Given the description of an element on the screen output the (x, y) to click on. 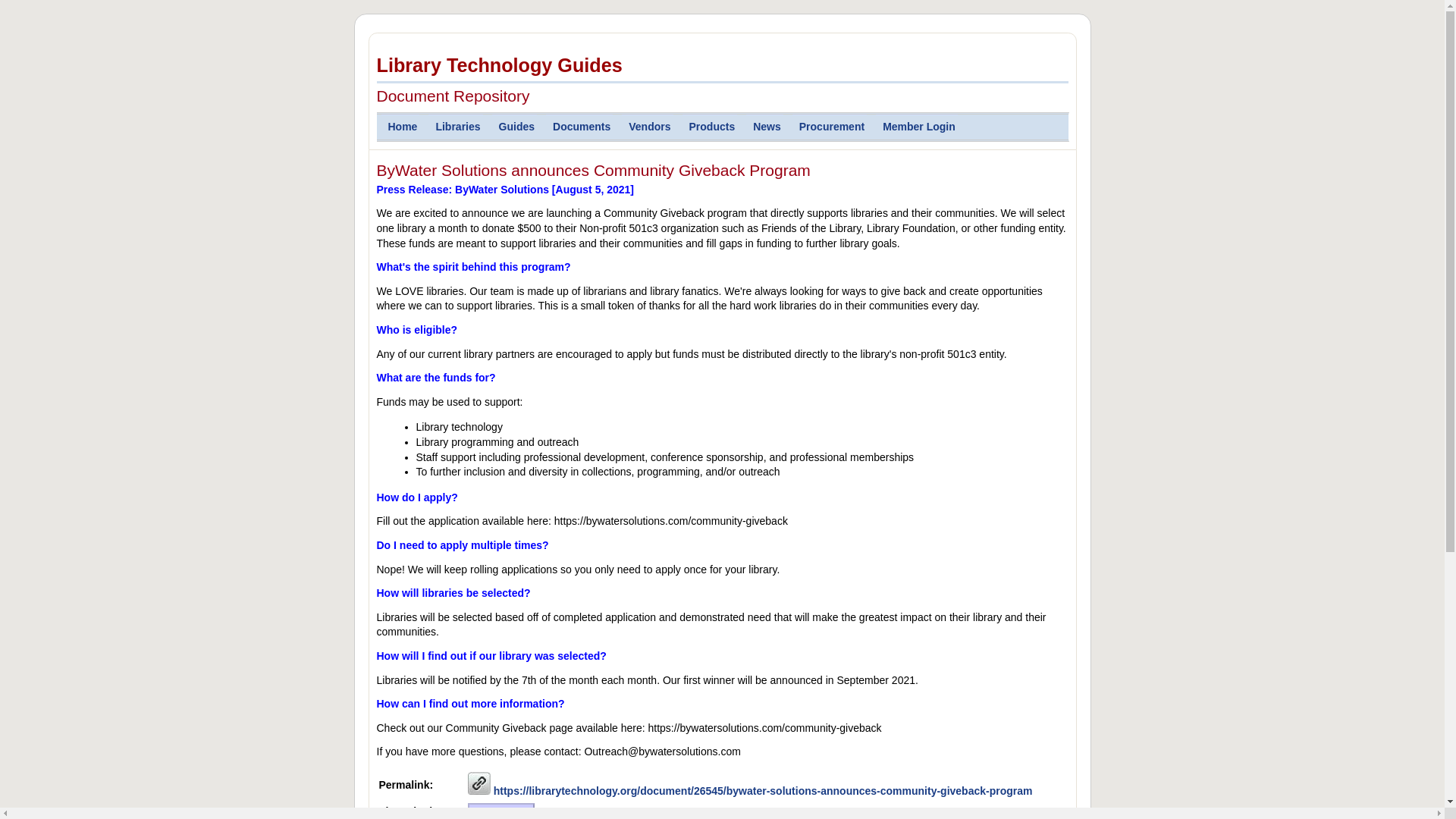
View Citation (500, 811)
Persistent URL for this listing (478, 783)
Libraries (454, 126)
Guides (514, 126)
Documents (579, 126)
Vendors (646, 126)
Library Technology Guides (721, 68)
Home (399, 126)
